Given the description of an element on the screen output the (x, y) to click on. 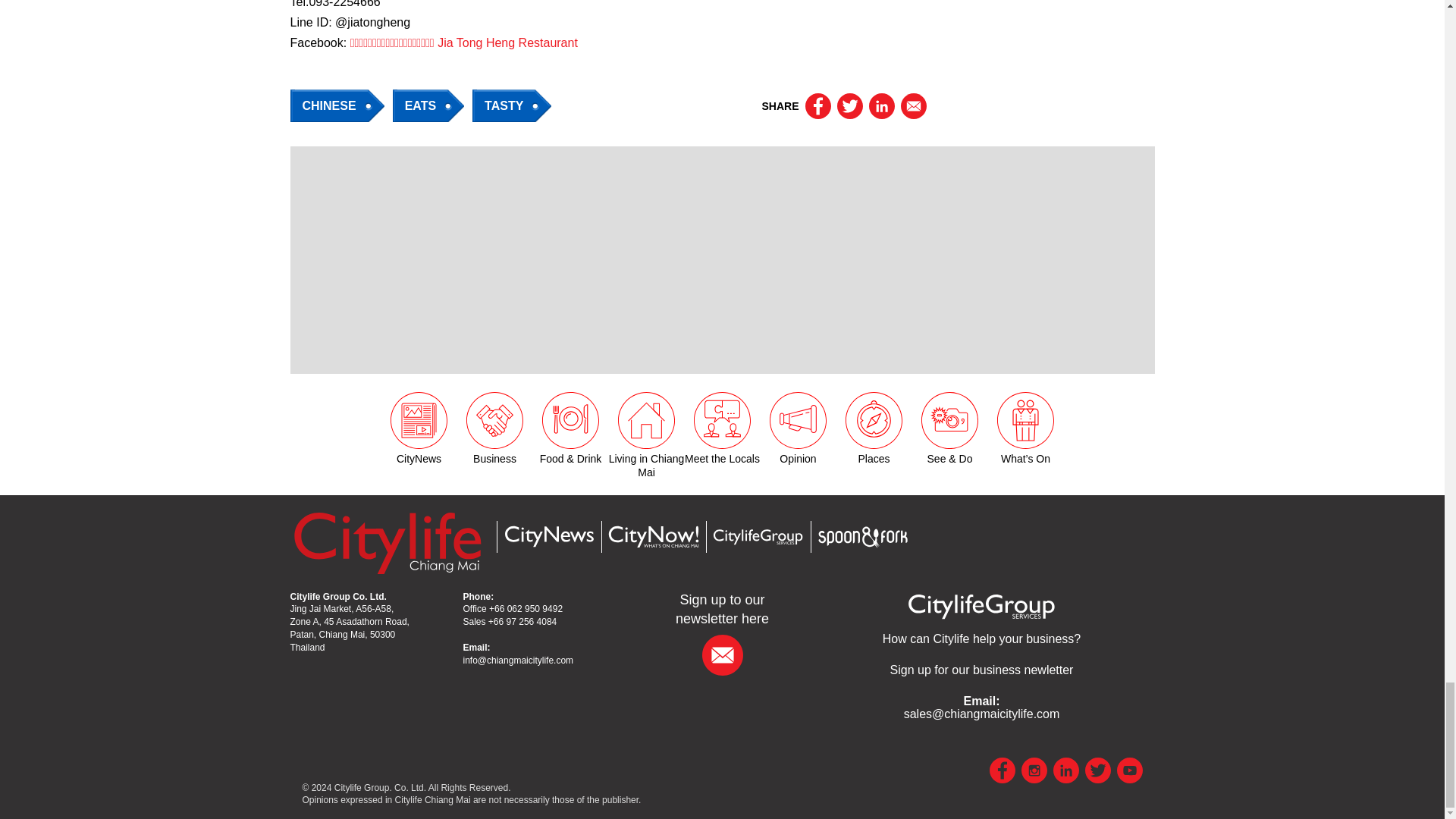
Citylife Group Services (757, 536)
Citylife Group Services (981, 605)
CityNow - What's on Chiang Mai (652, 536)
CityNews (548, 535)
Chiang Mai Citylife (386, 542)
Citylife Group Services (981, 638)
